Given the description of an element on the screen output the (x, y) to click on. 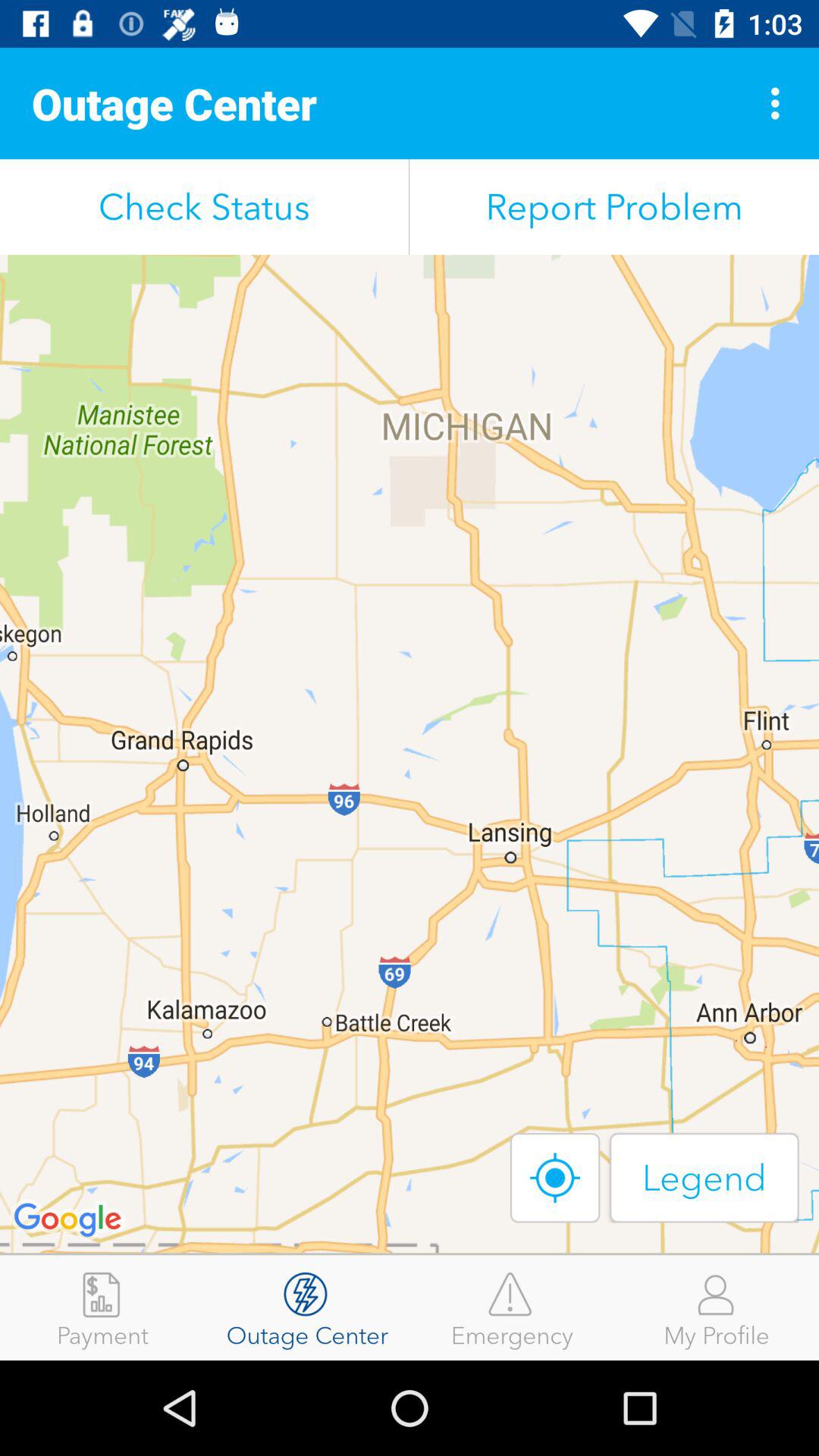
open the icon below report problem icon (704, 1177)
